Given the description of an element on the screen output the (x, y) to click on. 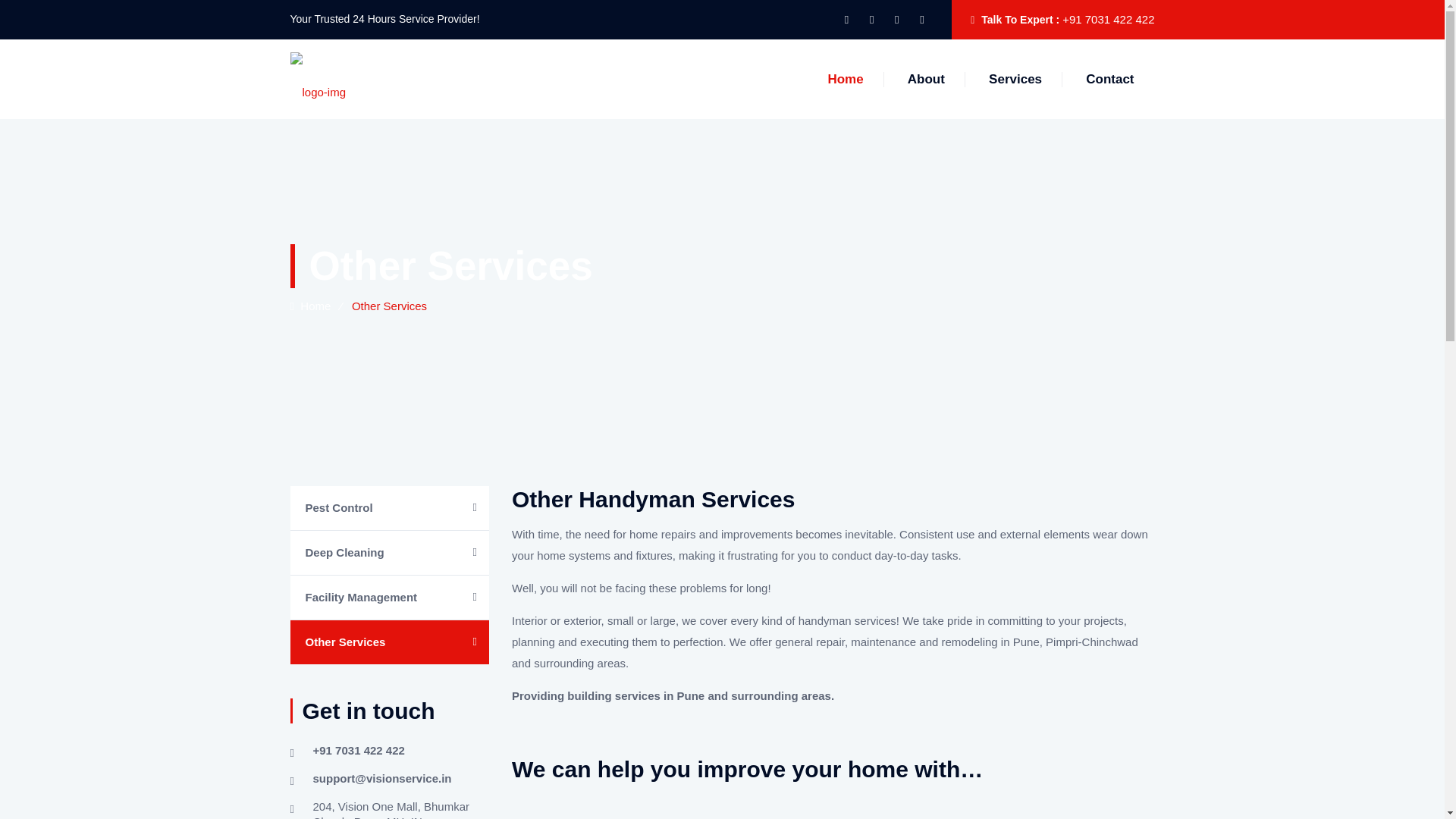
Pest Control (389, 507)
Other Services (389, 641)
  Home (309, 305)
Deep Cleaning (389, 552)
Tectxon (317, 78)
Facility Management (389, 597)
Homepage (309, 305)
